Given the description of an element on the screen output the (x, y) to click on. 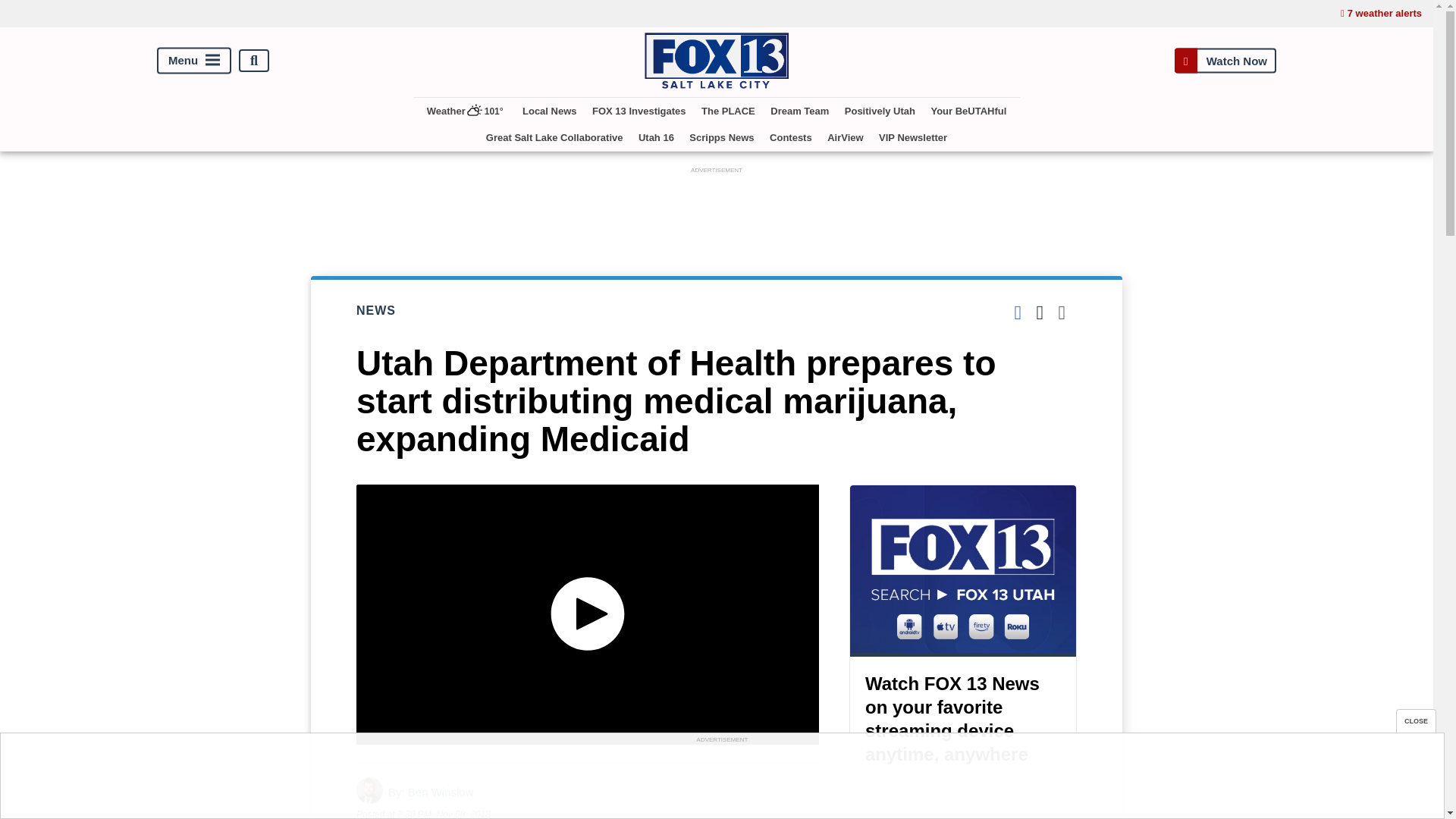
3rd party ad content (716, 211)
3rd party ad content (721, 780)
Watch Now (1224, 60)
Menu (194, 60)
